Given the description of an element on the screen output the (x, y) to click on. 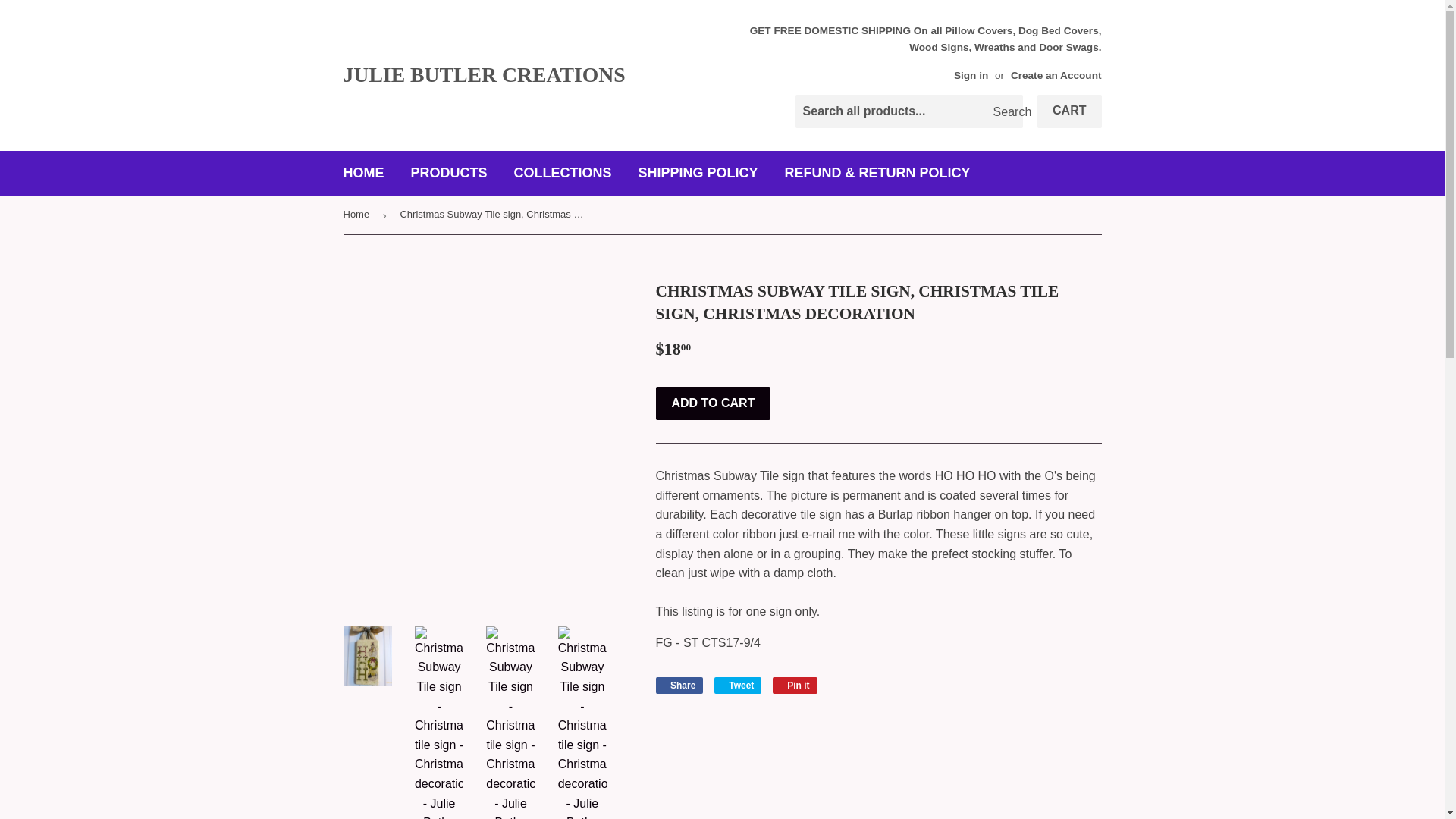
JULIE BUTLER CREATIONS (532, 75)
Sign in (970, 75)
HOME (363, 172)
Tweet on Twitter (737, 685)
Search (1005, 111)
CART (1068, 111)
Create an Account (1056, 75)
PRODUCTS (448, 172)
Share on Facebook (679, 685)
